Given the description of an element on the screen output the (x, y) to click on. 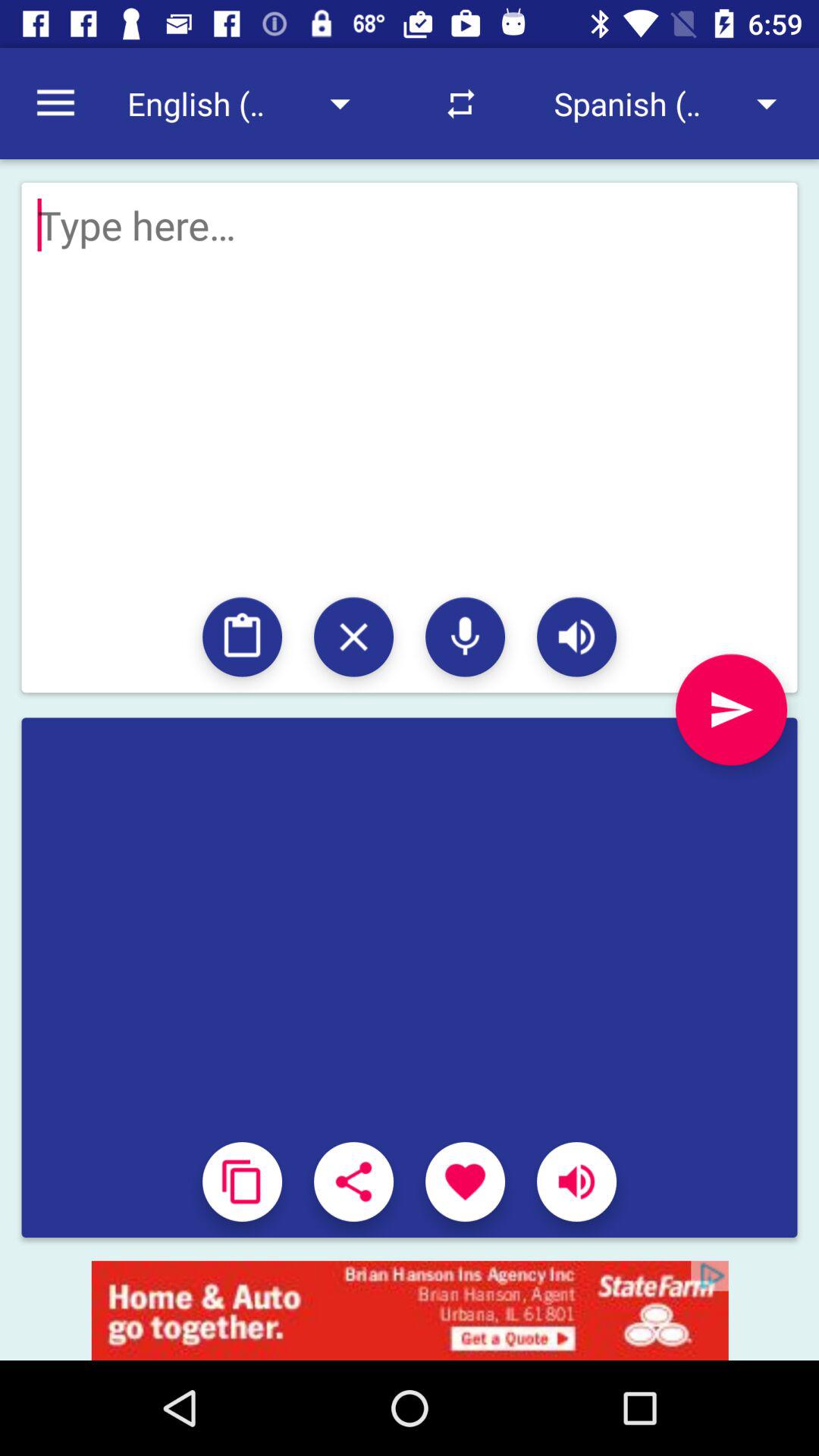
choose the speaker button (576, 636)
